Given the description of an element on the screen output the (x, y) to click on. 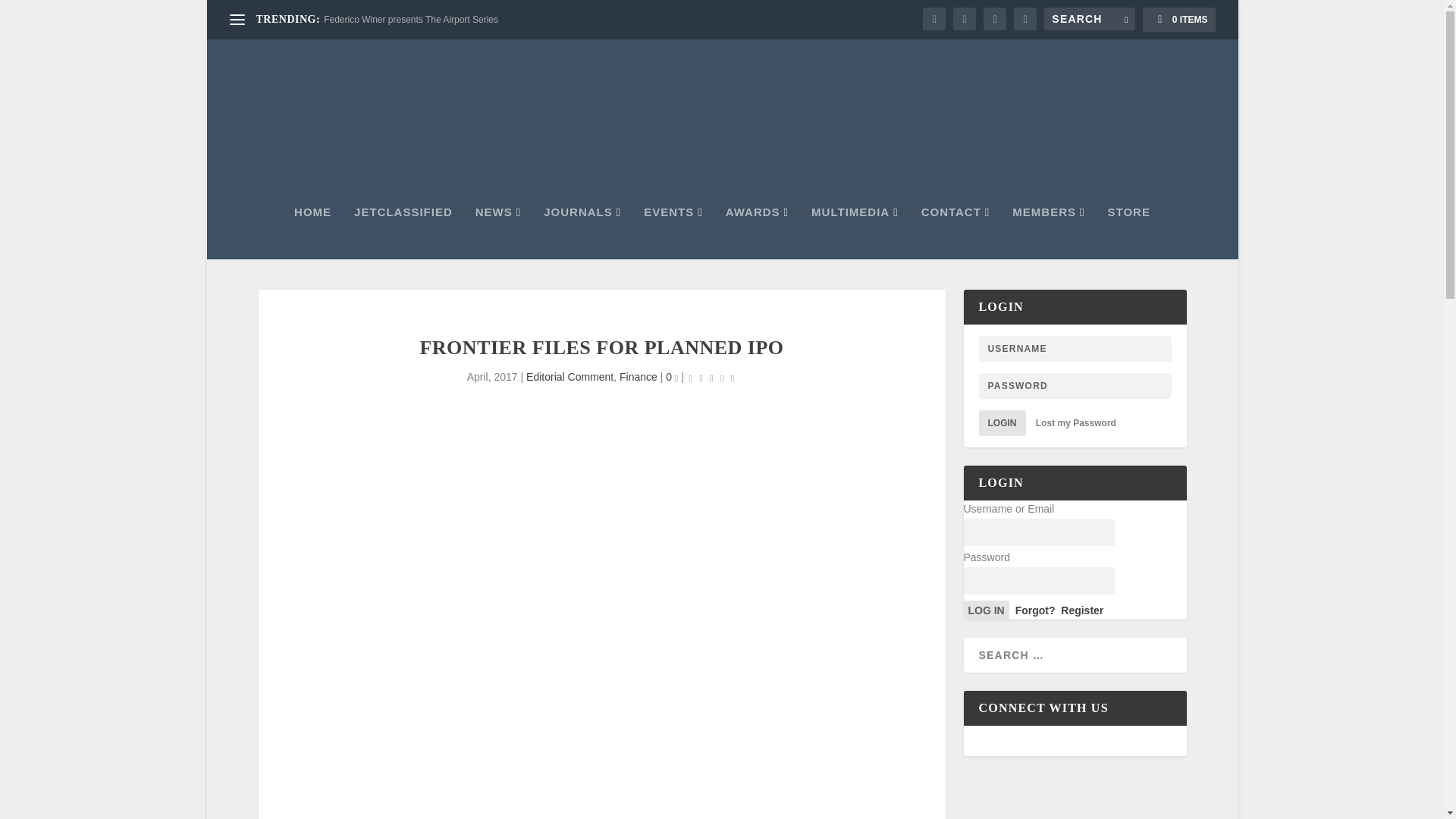
JOURNALS (582, 232)
JETCLASSIFIED (402, 232)
Federico Winer presents The Airport Series (410, 19)
log in (985, 609)
Rating: 0.00 (711, 377)
